Given the description of an element on the screen output the (x, y) to click on. 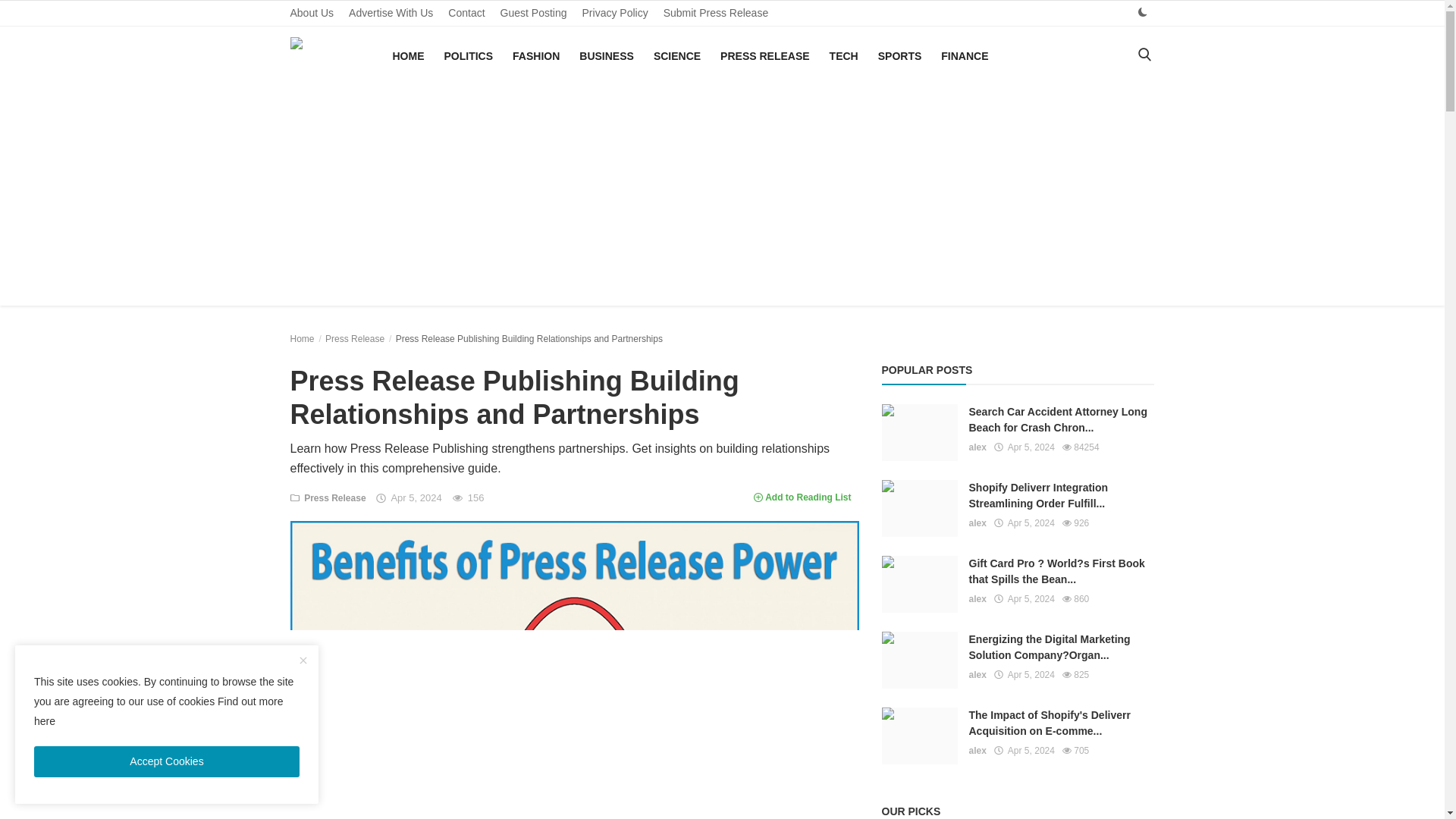
Advertise With Us (390, 13)
Privacy Policy (615, 13)
FINANCE (964, 55)
FASHION (536, 55)
POLITICS (468, 55)
Contact (466, 13)
Submit Press Release (716, 13)
SPORTS (900, 55)
Guest Posting (534, 13)
